Given the description of an element on the screen output the (x, y) to click on. 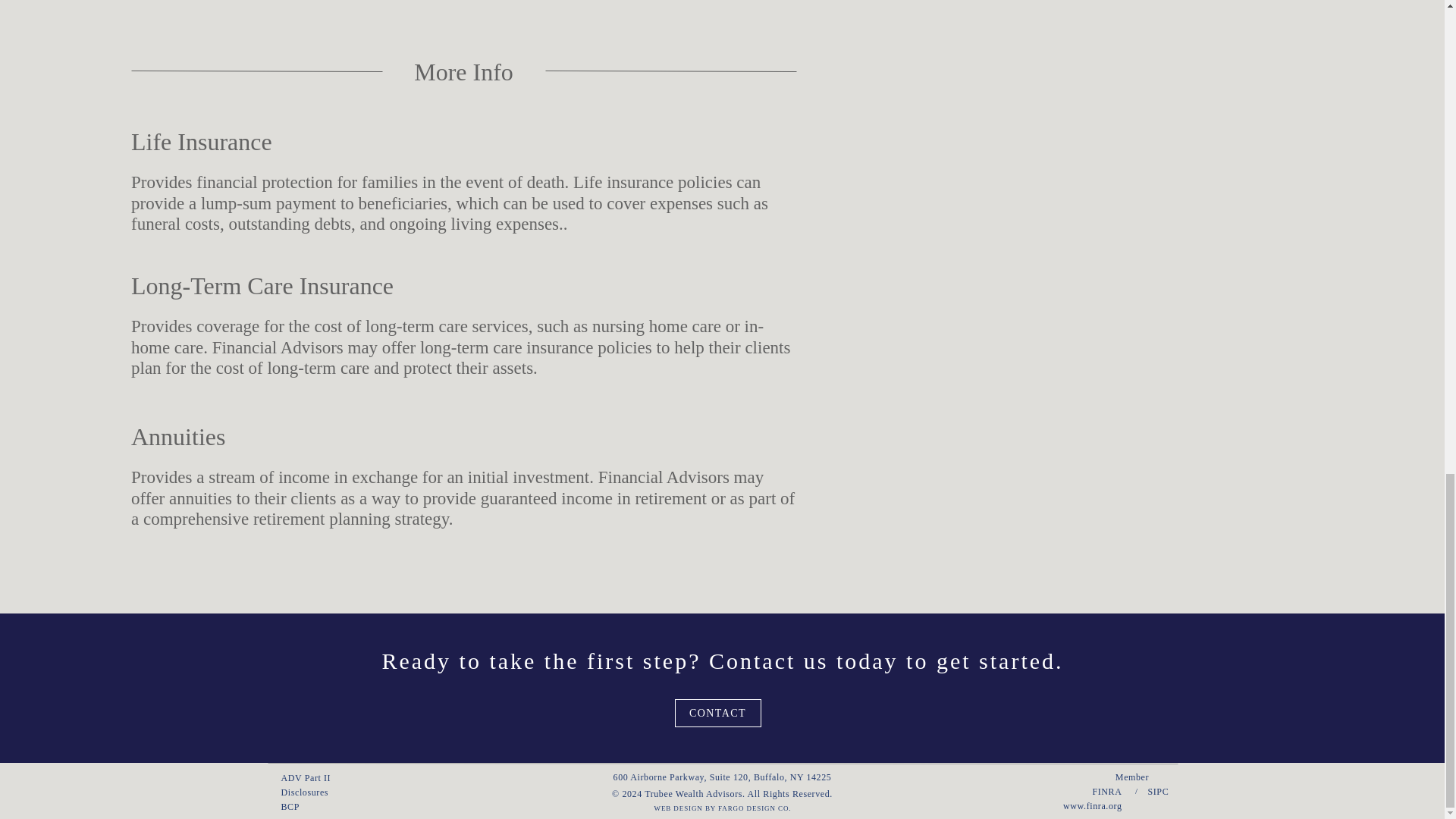
FINRA (1104, 790)
SIPC (1158, 790)
www.finra.org (1091, 805)
WEB DESIGN BY FARGO DESIGN CO. (721, 809)
BCP  (317, 806)
Disclosures (317, 791)
ADV Part II (317, 777)
